Given the description of an element on the screen output the (x, y) to click on. 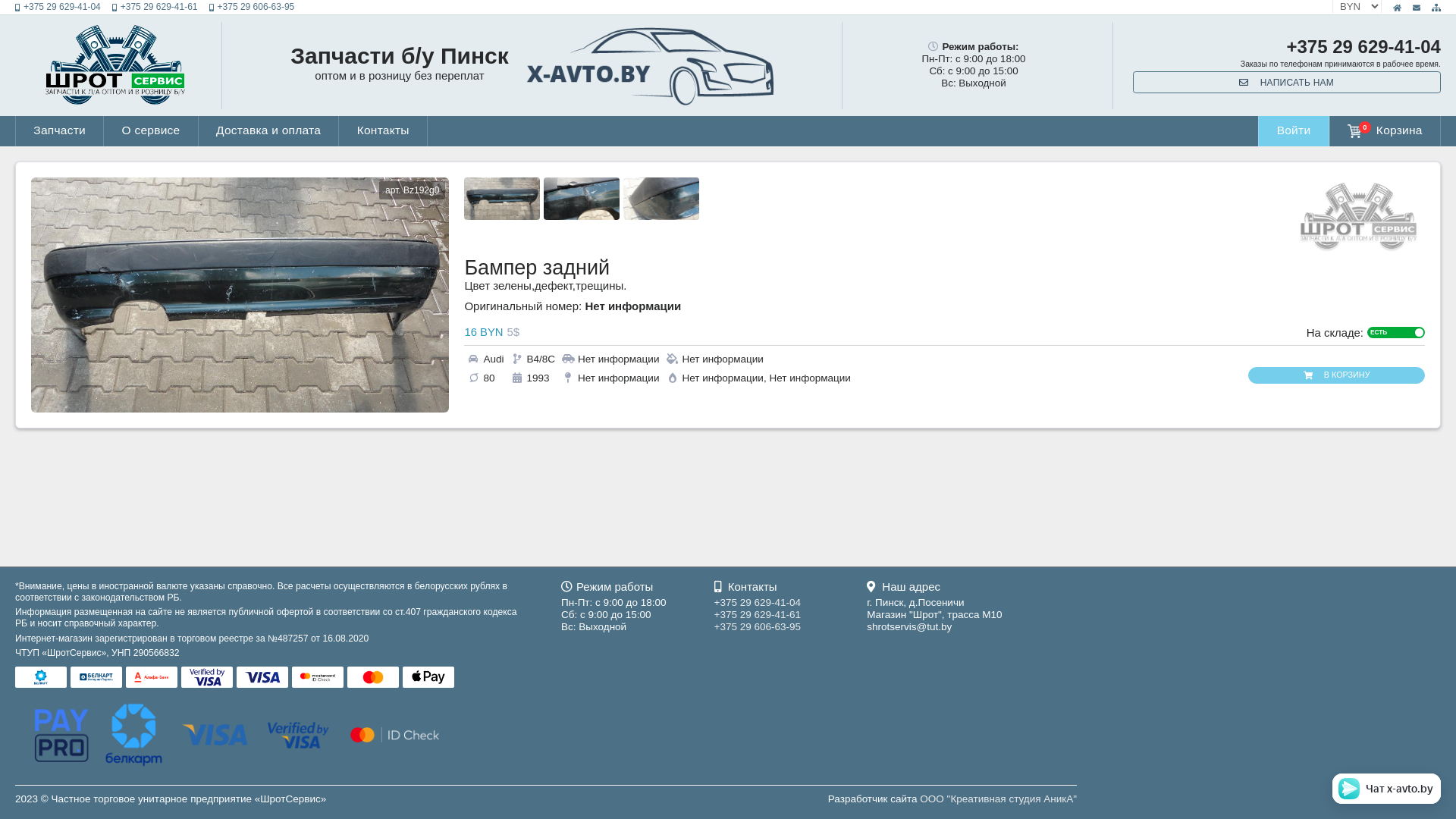
+375 29 629-41-04 Element type: text (57, 7)
+375 29 629-41-61 Element type: text (154, 7)
logo Element type: hover (501, 198)
+375 29 606-63-95 Element type: text (251, 7)
+375 29 629-41-04 Element type: text (757, 602)
logo Element type: hover (661, 198)
+375 29 629-41-61 Element type: text (757, 614)
logo Element type: hover (581, 198)
+375 29 606-63-95 Element type: text (757, 626)
+375 29 629-41-04 Element type: text (1363, 46)
